Given the description of an element on the screen output the (x, y) to click on. 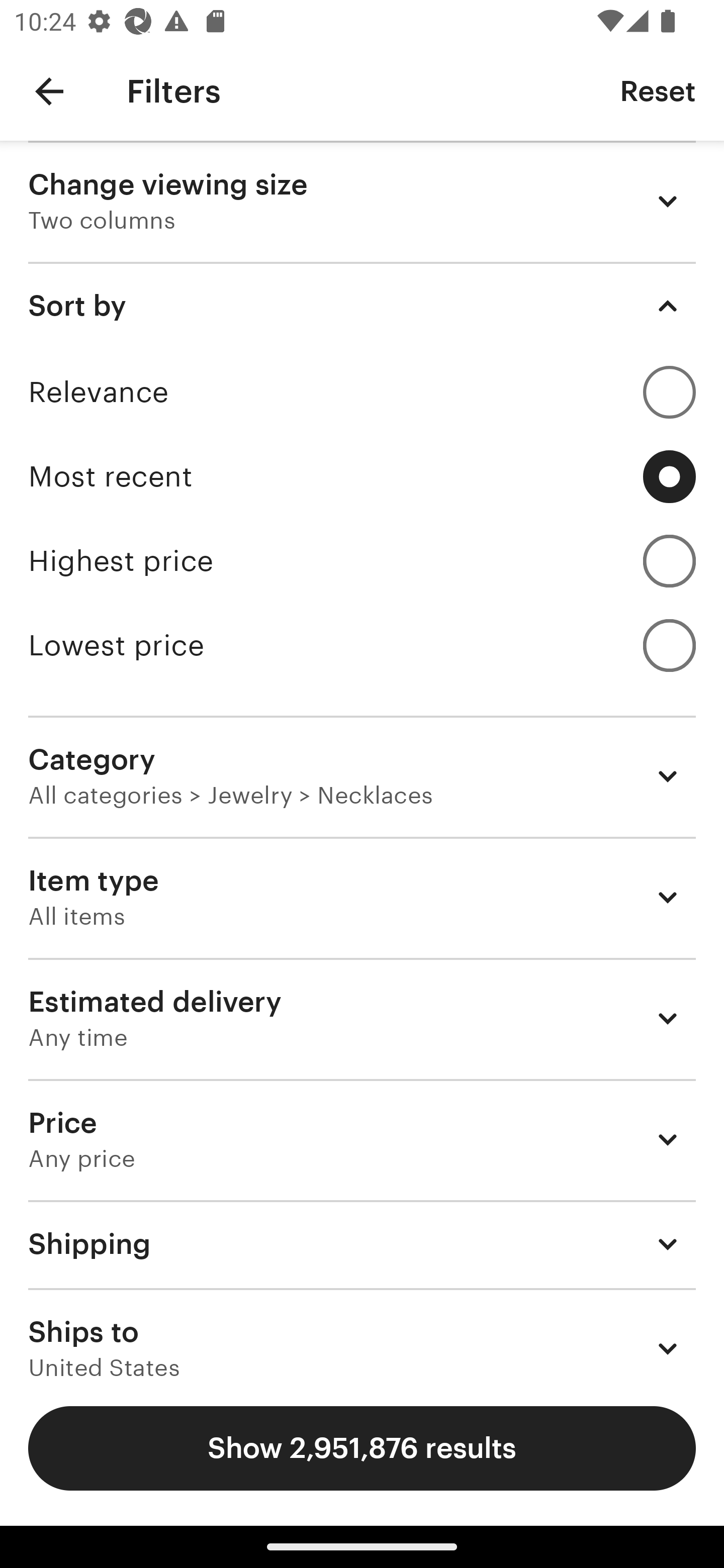
Navigate up (49, 91)
Reset (657, 90)
Change viewing size Two columns (362, 201)
Sort by (362, 305)
Relevance (362, 391)
Most recent (362, 476)
Highest price (362, 561)
Lowest price (362, 644)
Category All categories > Jewelry > Necklaces (362, 776)
Item type All items (362, 897)
Estimated delivery Any time (362, 1018)
Price Any price (362, 1138)
Shipping (362, 1243)
Ships to United States (362, 1332)
Show 2,951,876 results Show 2,951,914 results (361, 1448)
